Given the description of an element on the screen output the (x, y) to click on. 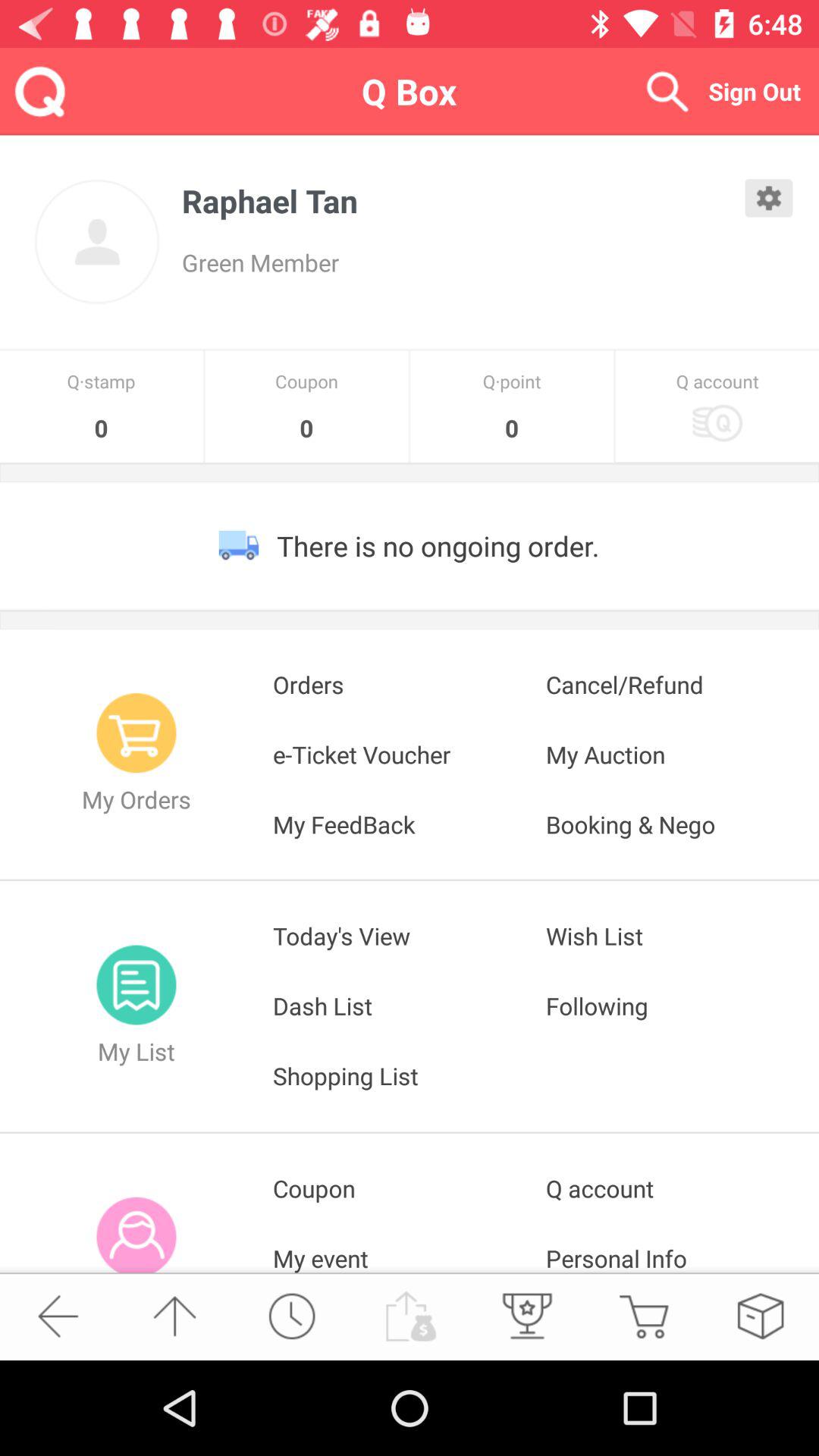
profile picture (96, 241)
